Given the description of an element on the screen output the (x, y) to click on. 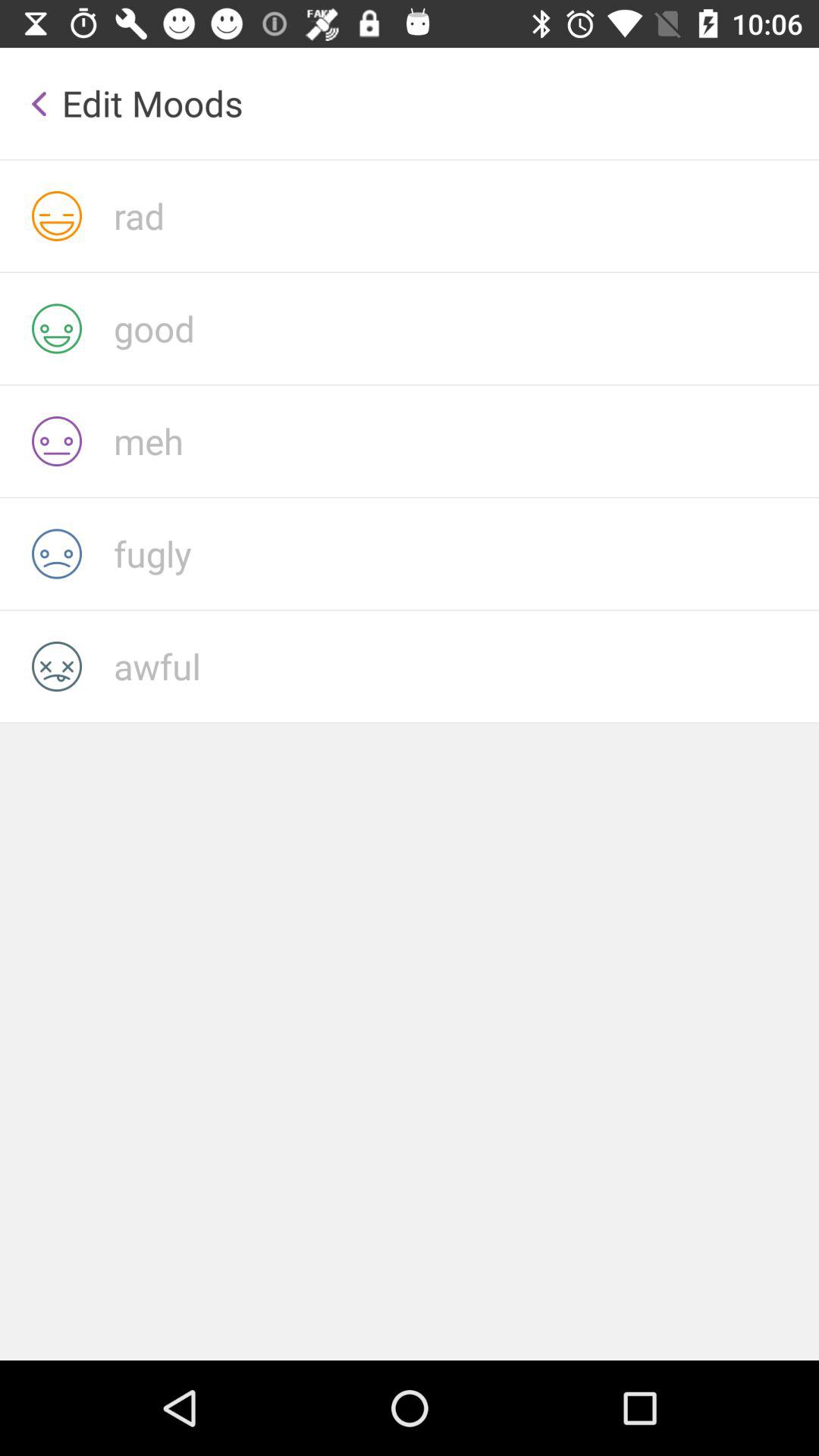
edit mood (466, 215)
